Given the description of an element on the screen output the (x, y) to click on. 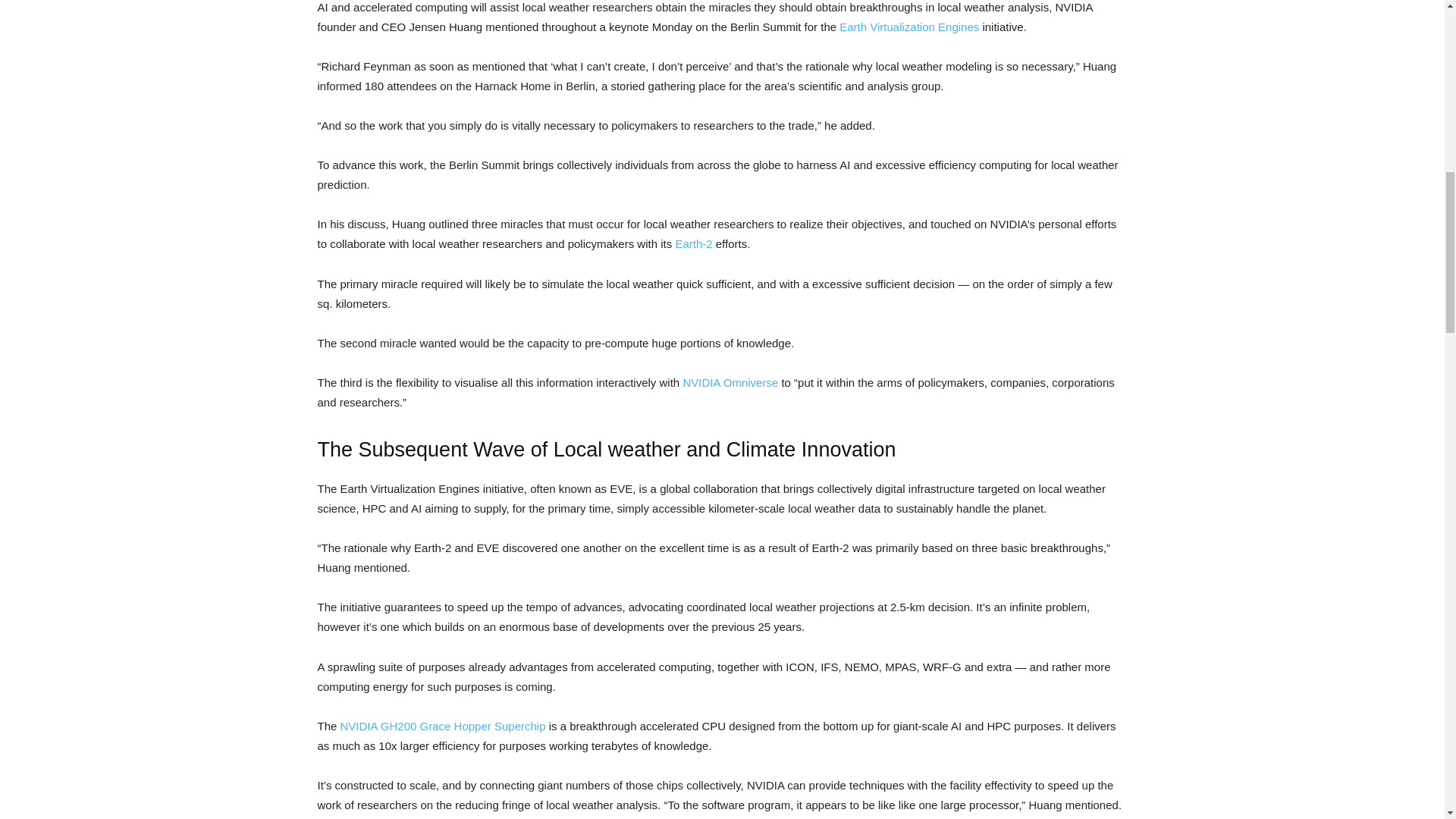
NVIDIA Omniverse (729, 382)
Earth Virtualization Engines (909, 26)
Earth-2 (693, 243)
NVIDIA GH200 Grace Hopper Superchip (443, 725)
